Given the description of an element on the screen output the (x, y) to click on. 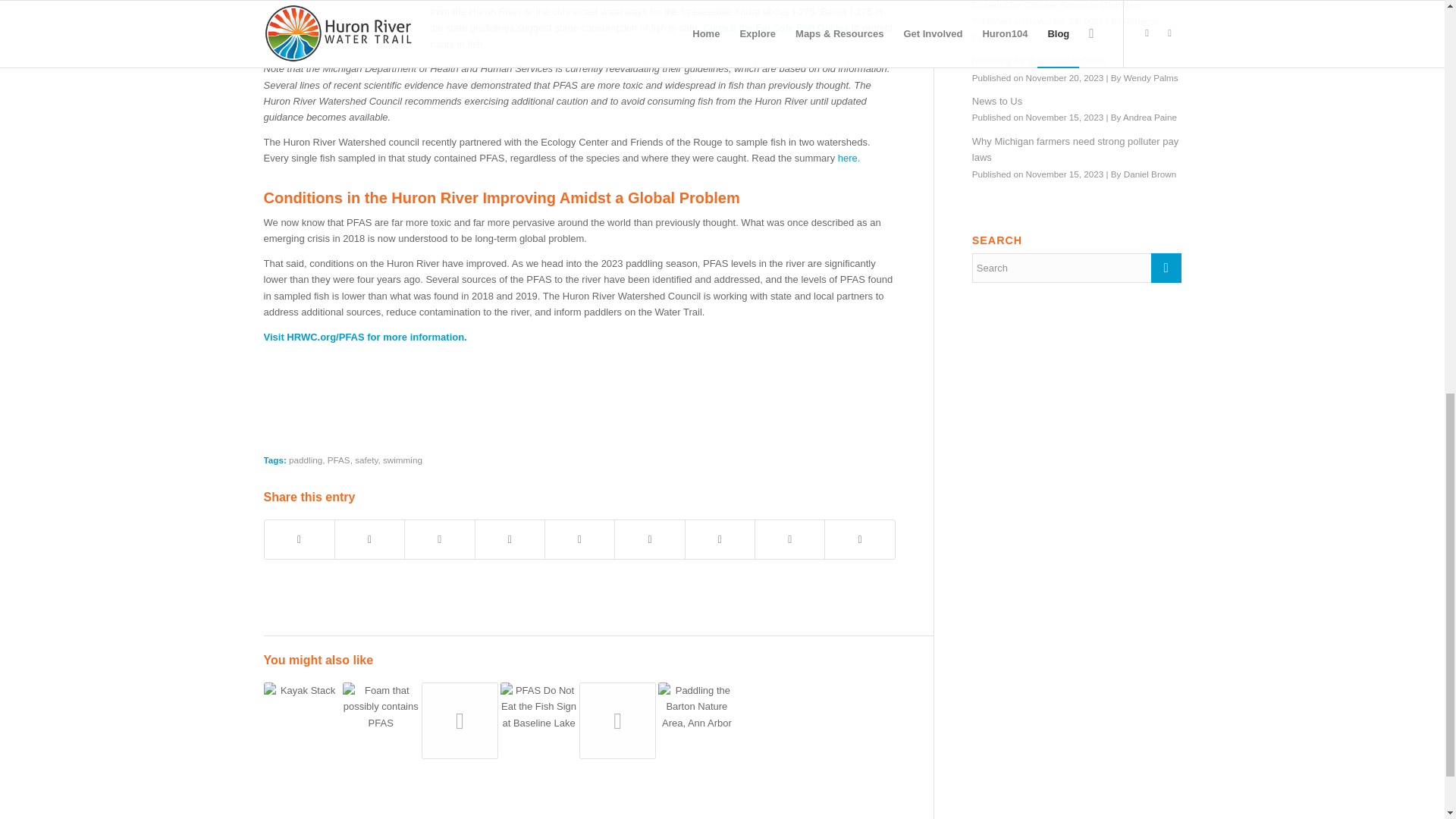
safety (366, 460)
PFAS (338, 460)
paddling (304, 460)
here. (849, 157)
swimming (402, 460)
Consult the Eat Safe Fish Guides (775, 27)
